Given the description of an element on the screen output the (x, y) to click on. 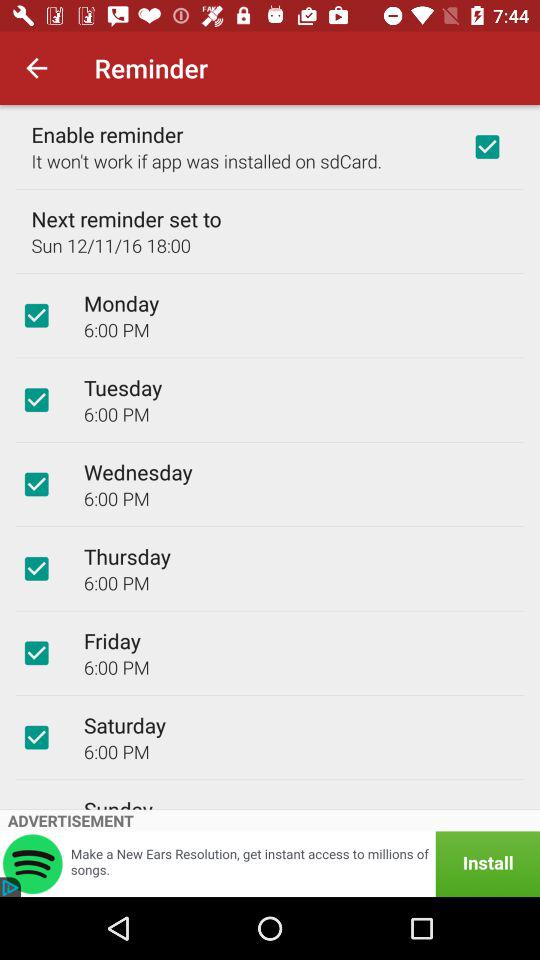
tap icon to the left of wednesday (36, 484)
